Given the description of an element on the screen output the (x, y) to click on. 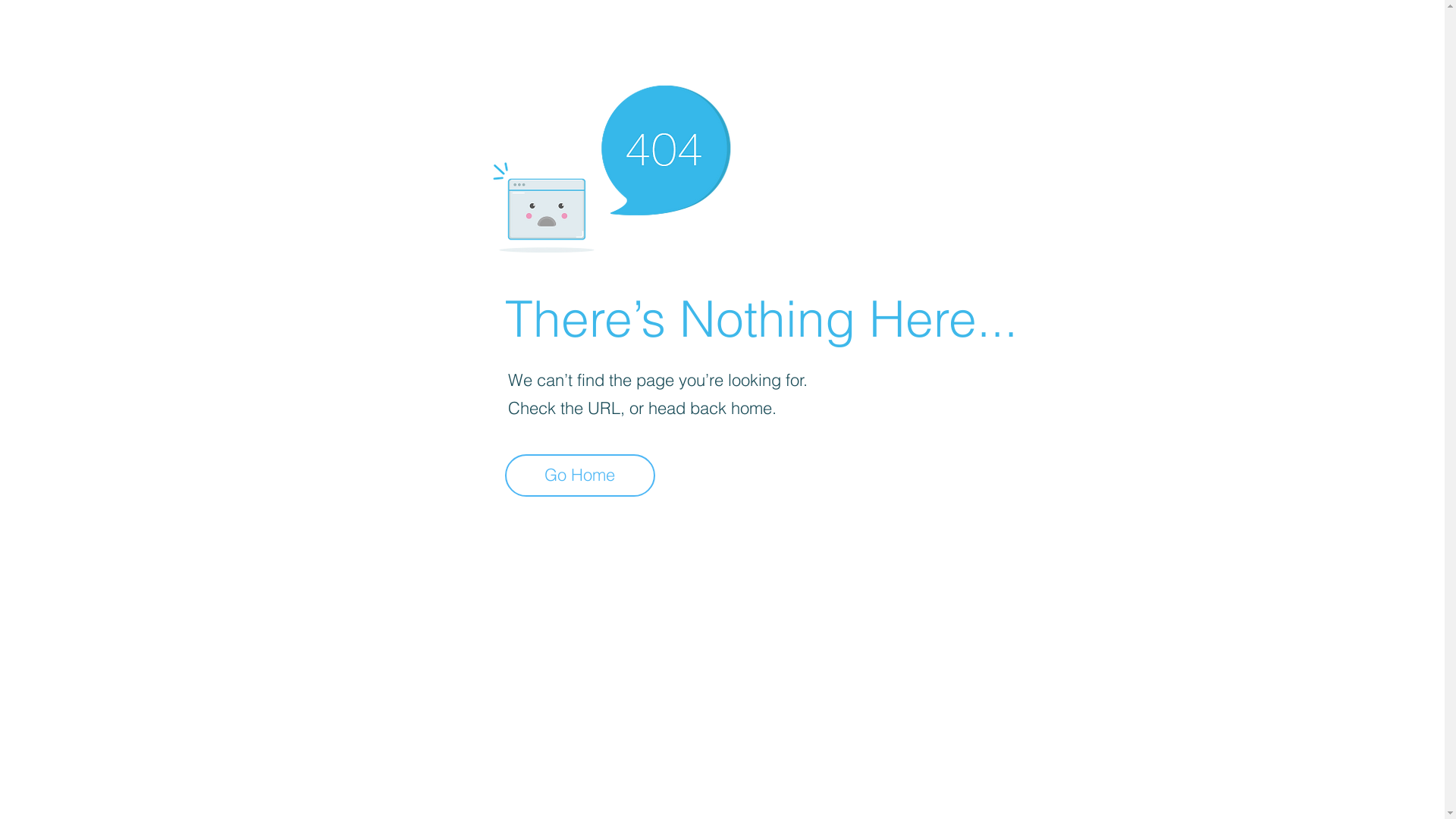
Go Home Element type: text (580, 475)
404-icon_2.png Element type: hover (610, 164)
